Given the description of an element on the screen output the (x, y) to click on. 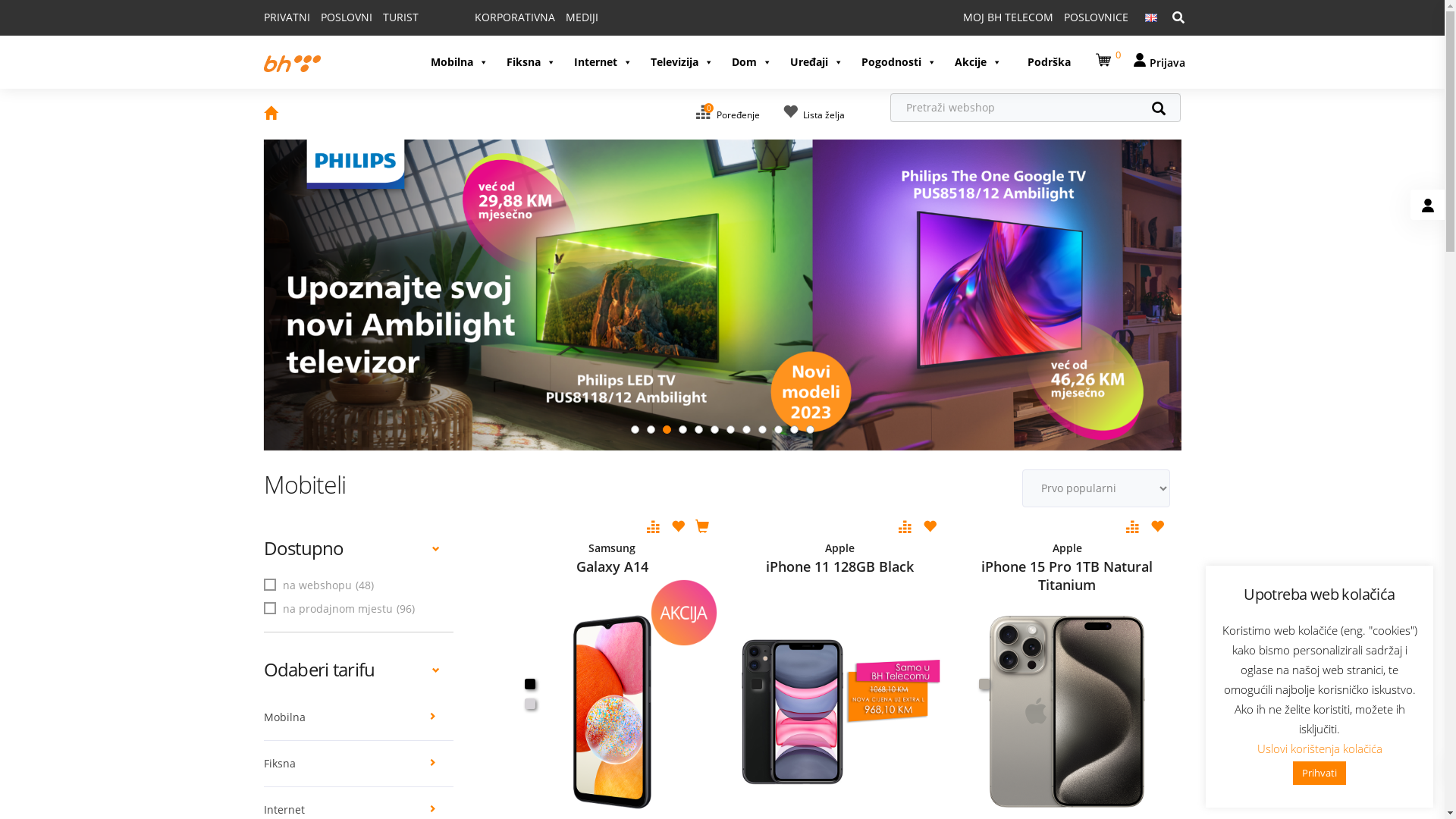
Veleprodaja Element type: text (481, 596)
na prodajnom mjestu(96) Element type: text (340, 608)
Sponzorstva Element type: text (482, 641)
  Element type: text (984, 683)
Internet Element type: text (602, 62)
TURIST Element type: text (399, 16)
Politika privatnosti Element type: text (687, 664)
Prihvati Element type: text (1319, 772)
POSLOVNI Element type: text (345, 16)
Moja Web TV Element type: text (861, 618)
na webshopu(48) Element type: text (320, 584)
Mobilna Element type: text (459, 62)
Uslovi akcija Element type: text (671, 641)
Fiksna Element type: text (530, 62)
Pogodnosti Element type: text (898, 62)
Arhiva vijesti Element type: text (296, 664)
Karijera Element type: text (283, 618)
POSLOVNICE Element type: text (1095, 16)
Prijava Element type: text (1158, 62)
Partneri Element type: text (471, 618)
Pristup informacijama Element type: text (319, 641)
Televizija Element type: text (682, 62)
home Element type: hover (270, 114)
Arhiva obavijesti Element type: text (305, 687)
Dom Element type: text (750, 62)
PRIVATNI Element type: text (286, 16)
KORPORATIVNA Element type: text (514, 16)
  Element type: text (529, 703)
Akcije Element type: text (977, 62)
Moj BH Telecom Element type: text (869, 596)
Apple
iPhone 15 Pro 1TB Natural Titanium Element type: text (1066, 556)
Samsung
Galaxy A14 Element type: text (612, 556)
Dodaj u korpu Element type: hover (702, 527)
Apple
iPhone 11 128GB Black Element type: text (839, 556)
Bonus plus Element type: text (1044, 596)
Prijavi se Element type: text (1039, 698)
MEDIJI Element type: text (581, 16)
Cjenovnik usluga Element type: text (683, 596)
  Element type: text (756, 683)
Donacije Element type: text (473, 664)
Nabavke i pozivi Element type: text (304, 596)
Fiksna Element type: text (358, 763)
Mobilna Element type: text (358, 717)
  Element type: text (529, 683)
MOJ BH TELECOM Element type: text (1008, 16)
